Given the description of an element on the screen output the (x, y) to click on. 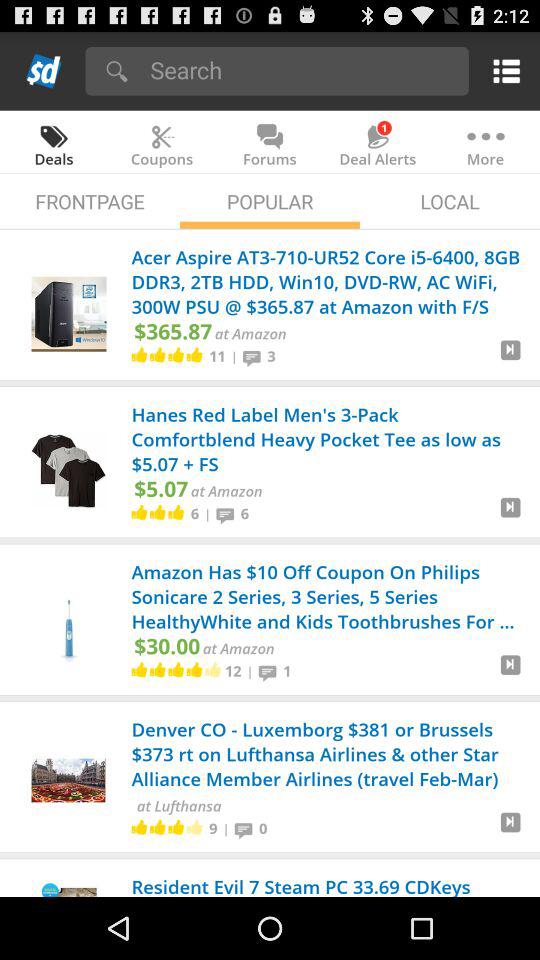
tap icon to the right of frontpage (270, 200)
